Given the description of an element on the screen output the (x, y) to click on. 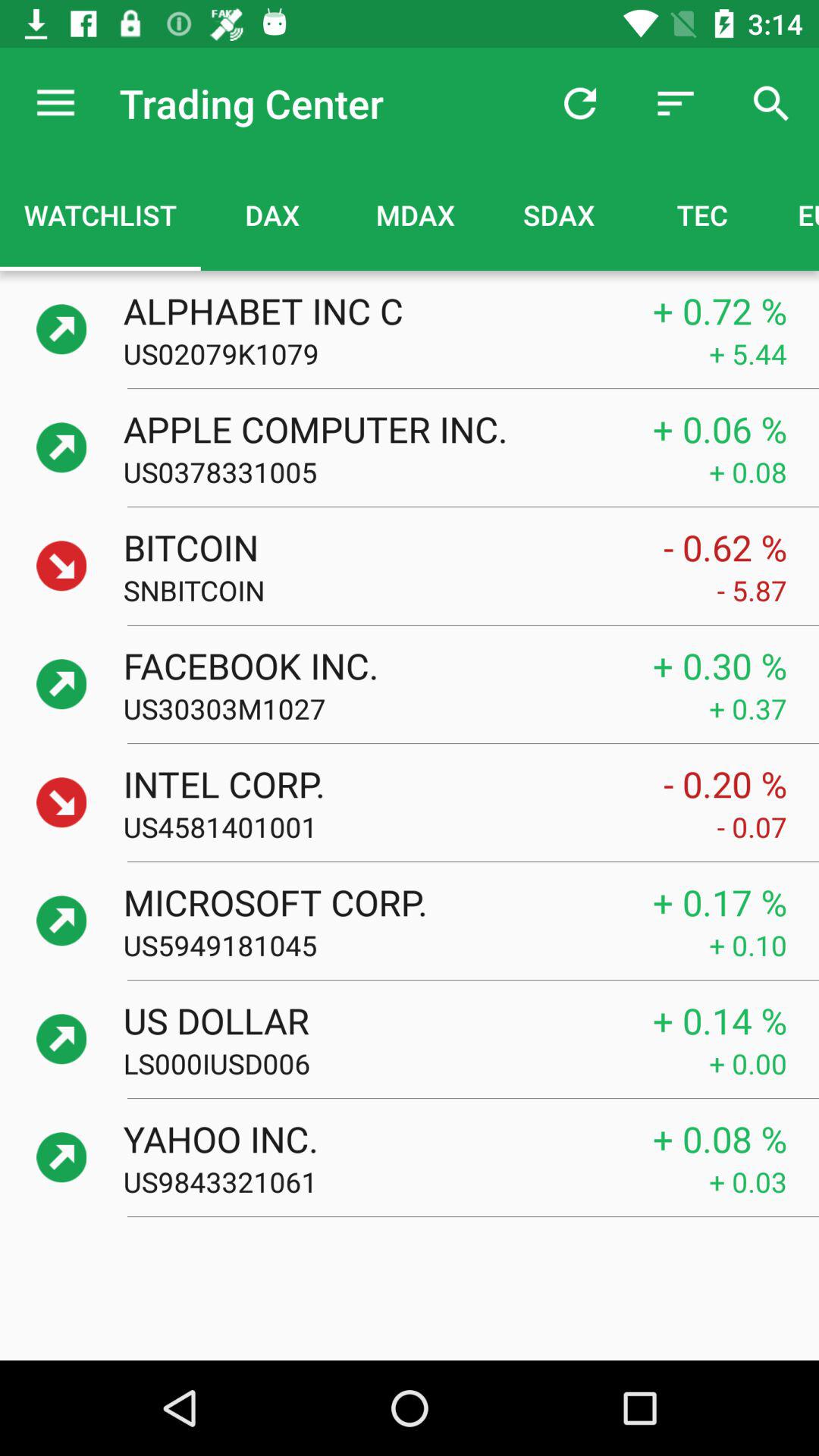
turn off item next to the + 0.10 icon (416, 945)
